Given the description of an element on the screen output the (x, y) to click on. 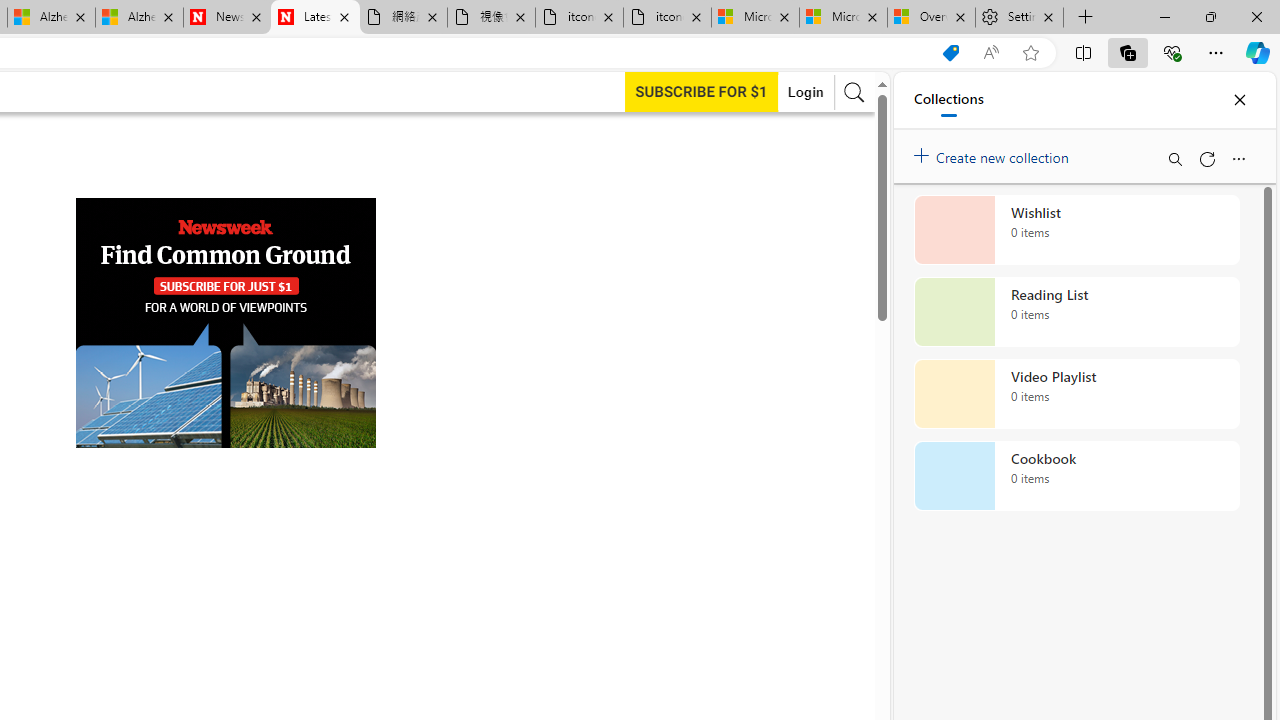
Newsweek - News, Analysis, Politics, Business, Technology (227, 17)
Cookbook collection, 0 items (1076, 475)
